Given the description of an element on the screen output the (x, y) to click on. 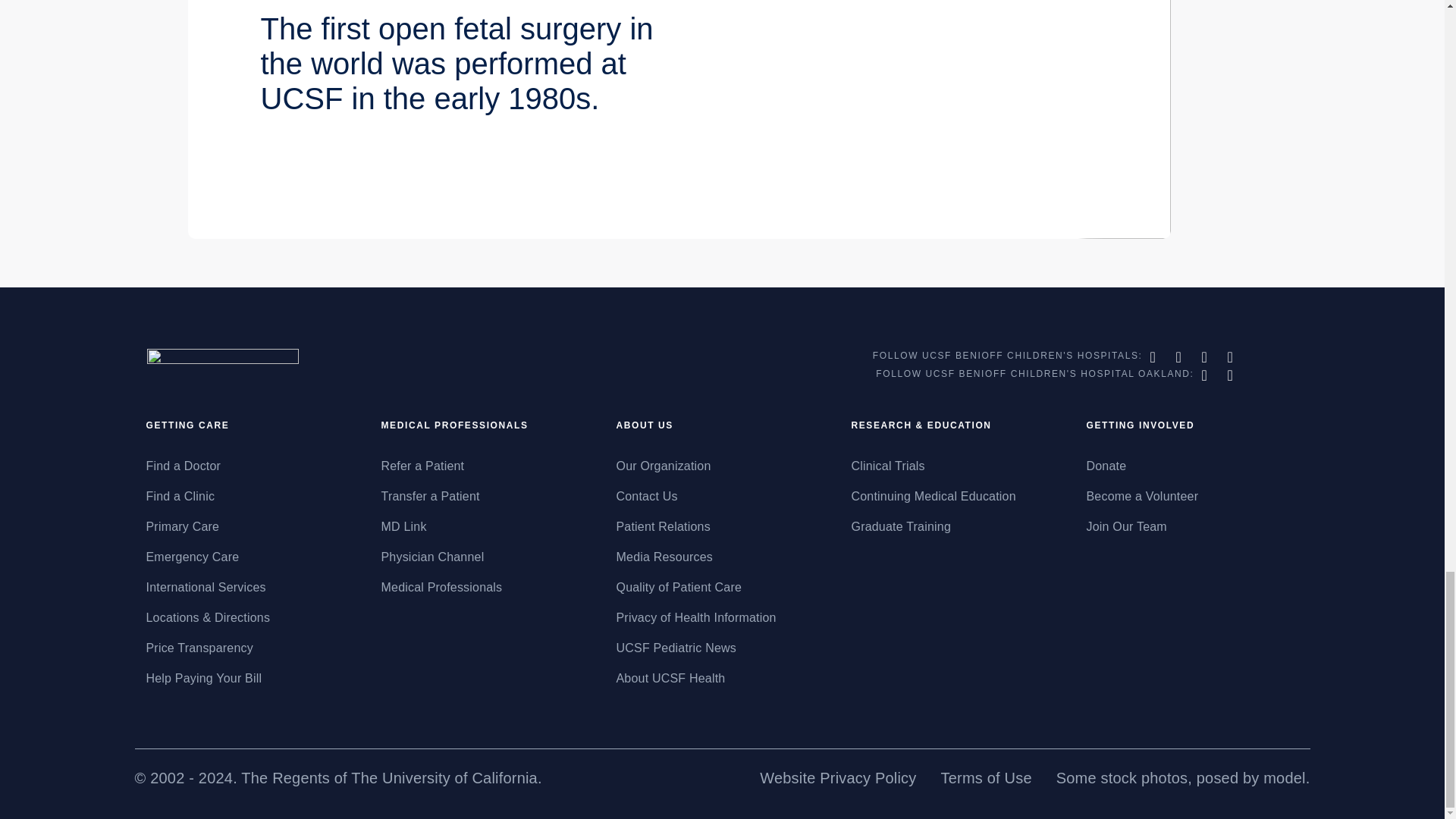
X (1180, 357)
